Given the description of an element on the screen output the (x, y) to click on. 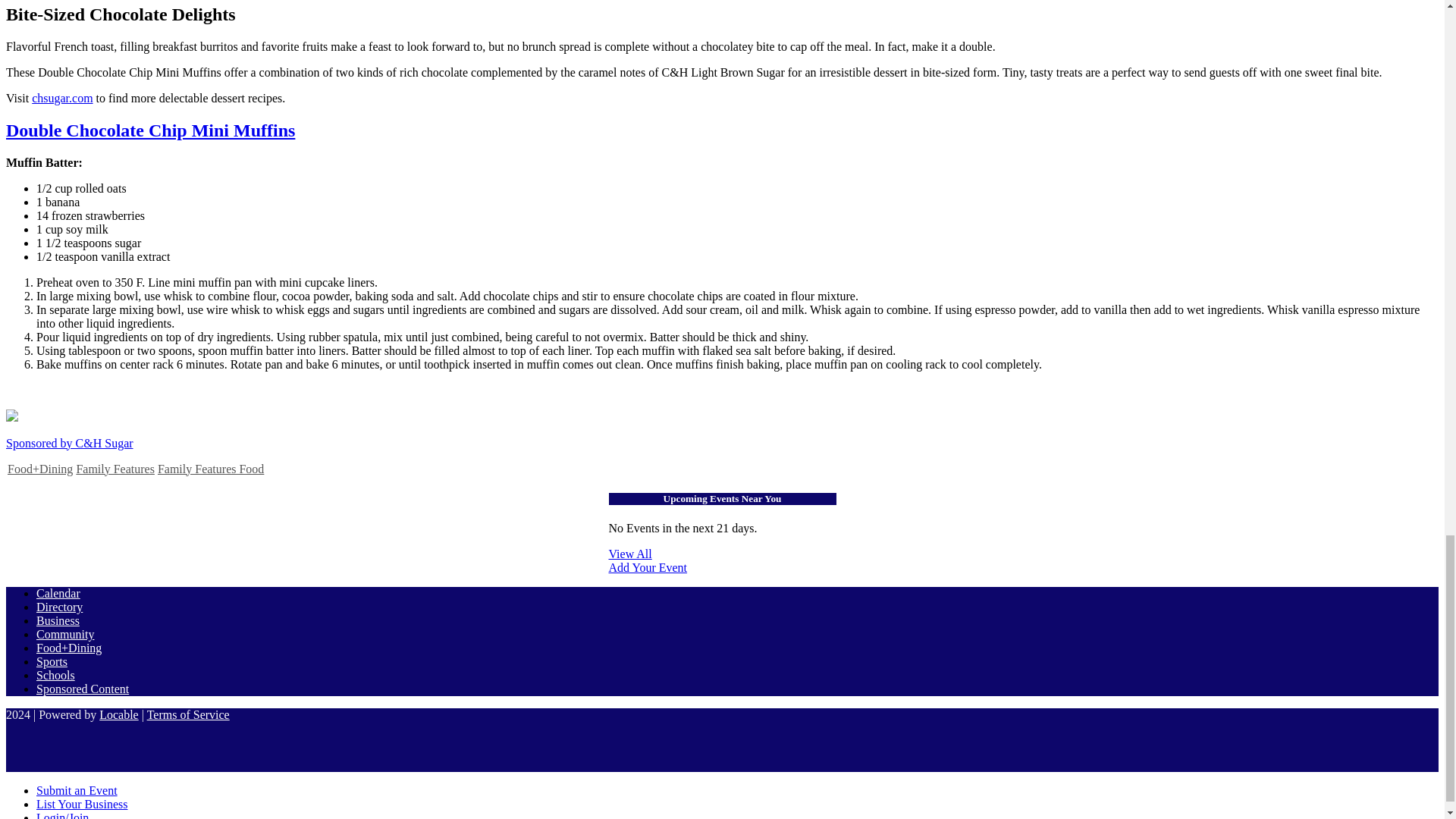
chsugar.com (62, 97)
View All (721, 553)
Business (58, 620)
Calendar (58, 593)
Double Chocolate Chip Mini Muffins (150, 130)
Directory (59, 606)
Add Your Event (721, 574)
Community (65, 634)
Sports (51, 661)
Family Features Food (210, 468)
Family Features (114, 468)
